Given the description of an element on the screen output the (x, y) to click on. 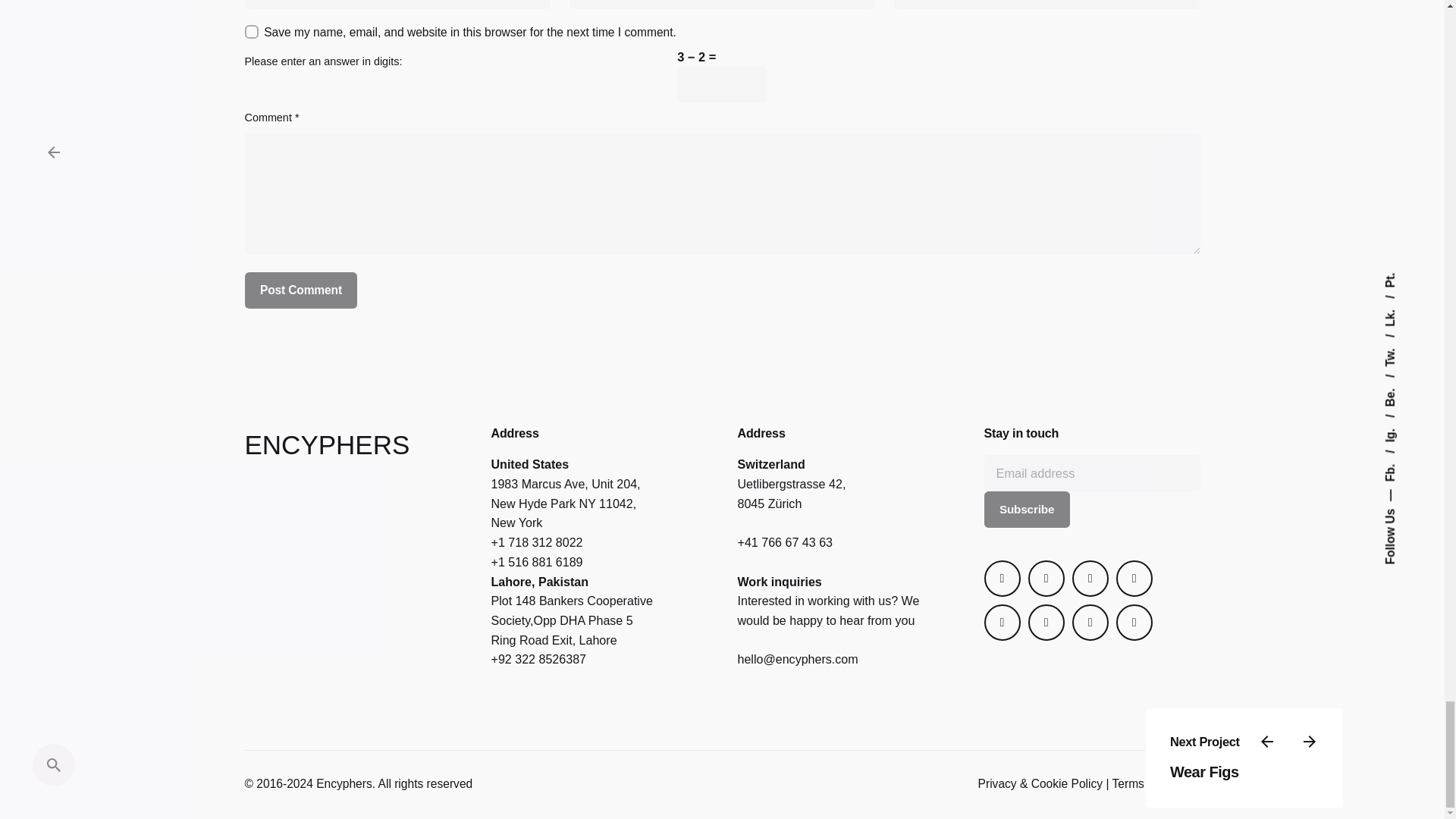
Subscribe (1027, 509)
Post Comment (300, 289)
yes (250, 31)
